Given the description of an element on the screen output the (x, y) to click on. 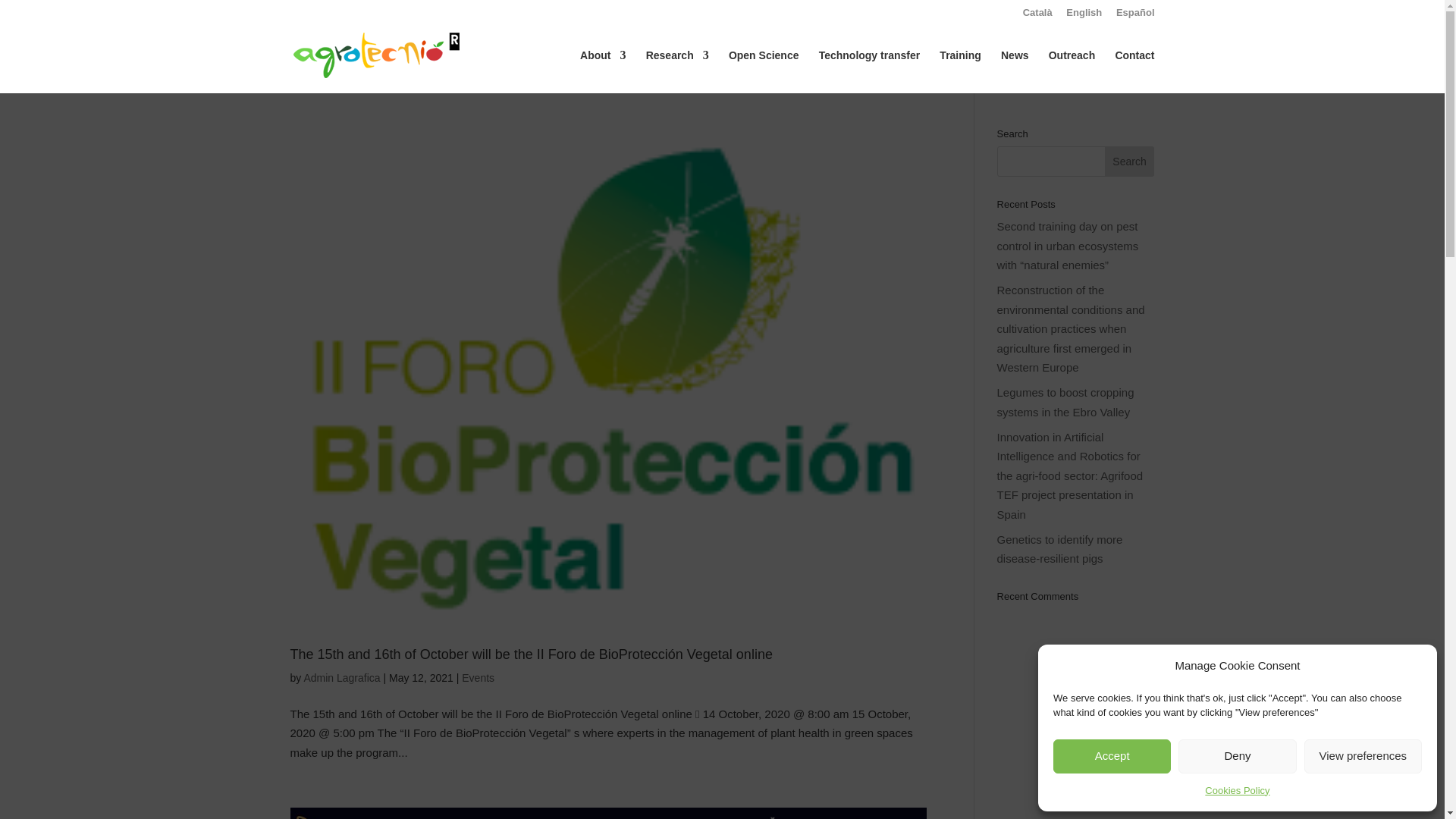
English (1083, 16)
English (1083, 16)
Cookies Policy (1237, 790)
About (602, 67)
View preferences (1363, 755)
Posts by Admin Lagrafica (341, 677)
Deny (1236, 755)
Search (1129, 161)
Accept (1111, 755)
Research (677, 67)
